Given the description of an element on the screen output the (x, y) to click on. 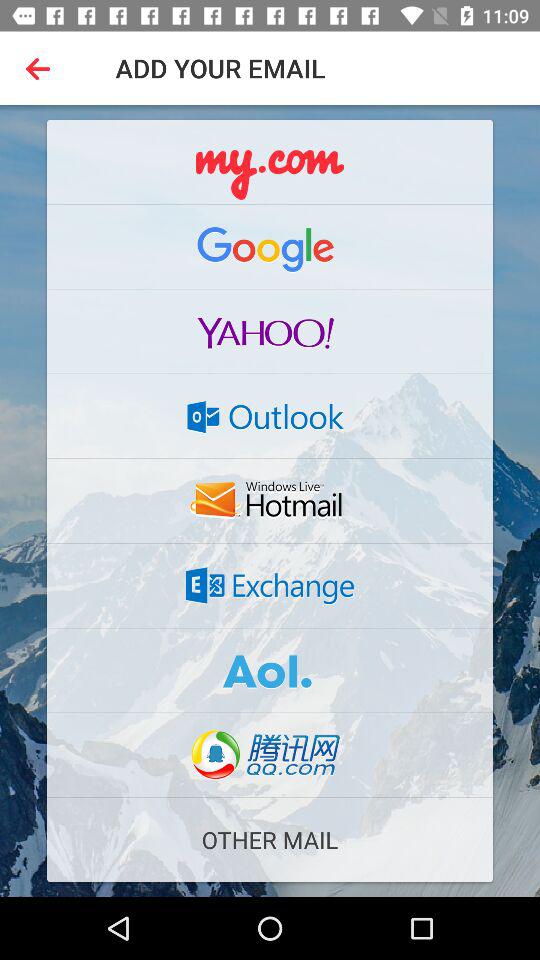
etc (269, 501)
